Given the description of an element on the screen output the (x, y) to click on. 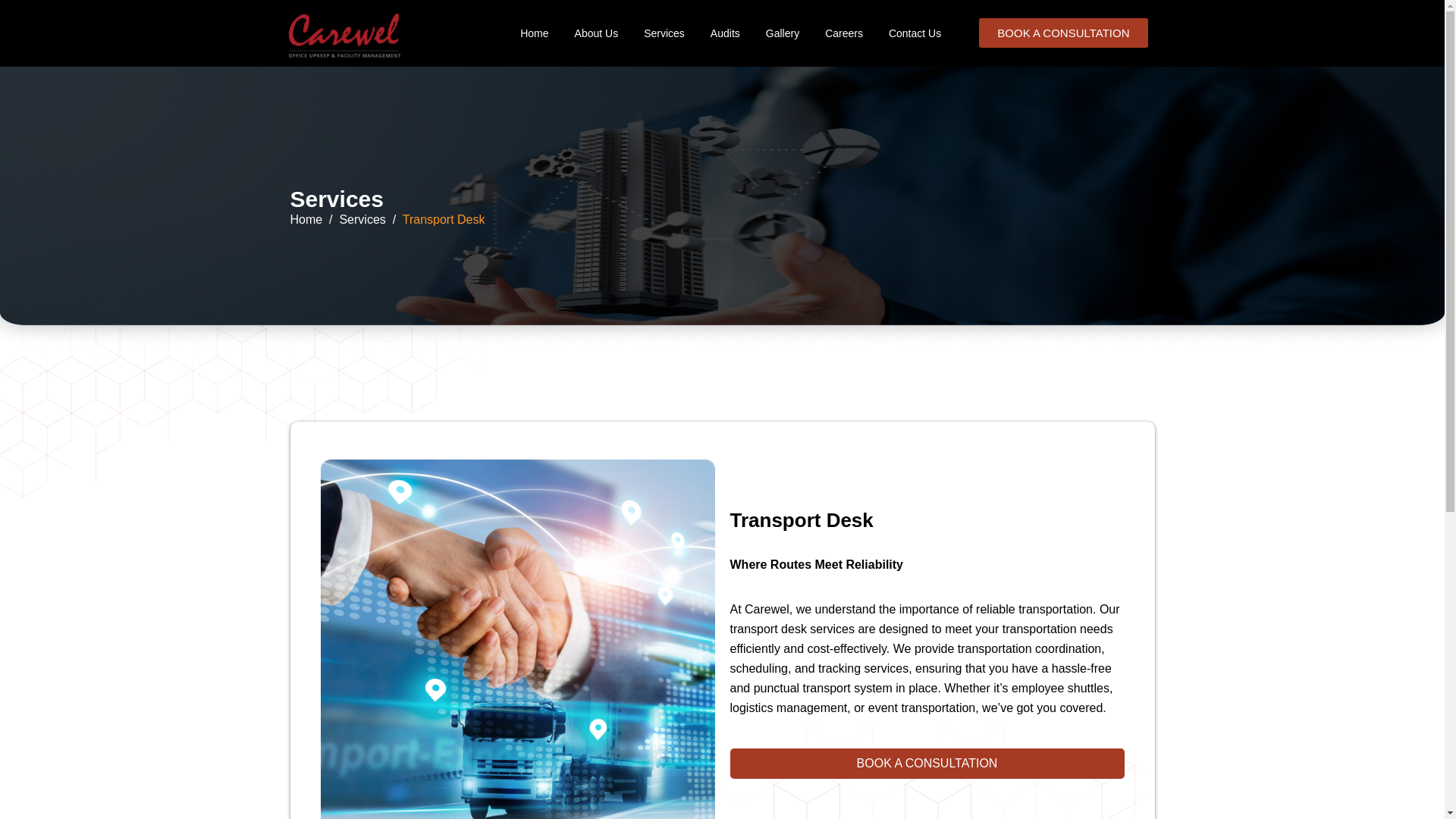
About Us (596, 32)
Audits (724, 32)
BOOK A CONSULTATION (1062, 32)
Careers (843, 32)
Home (533, 32)
Contact Us (914, 32)
Services (664, 32)
Gallery (782, 32)
